Given the description of an element on the screen output the (x, y) to click on. 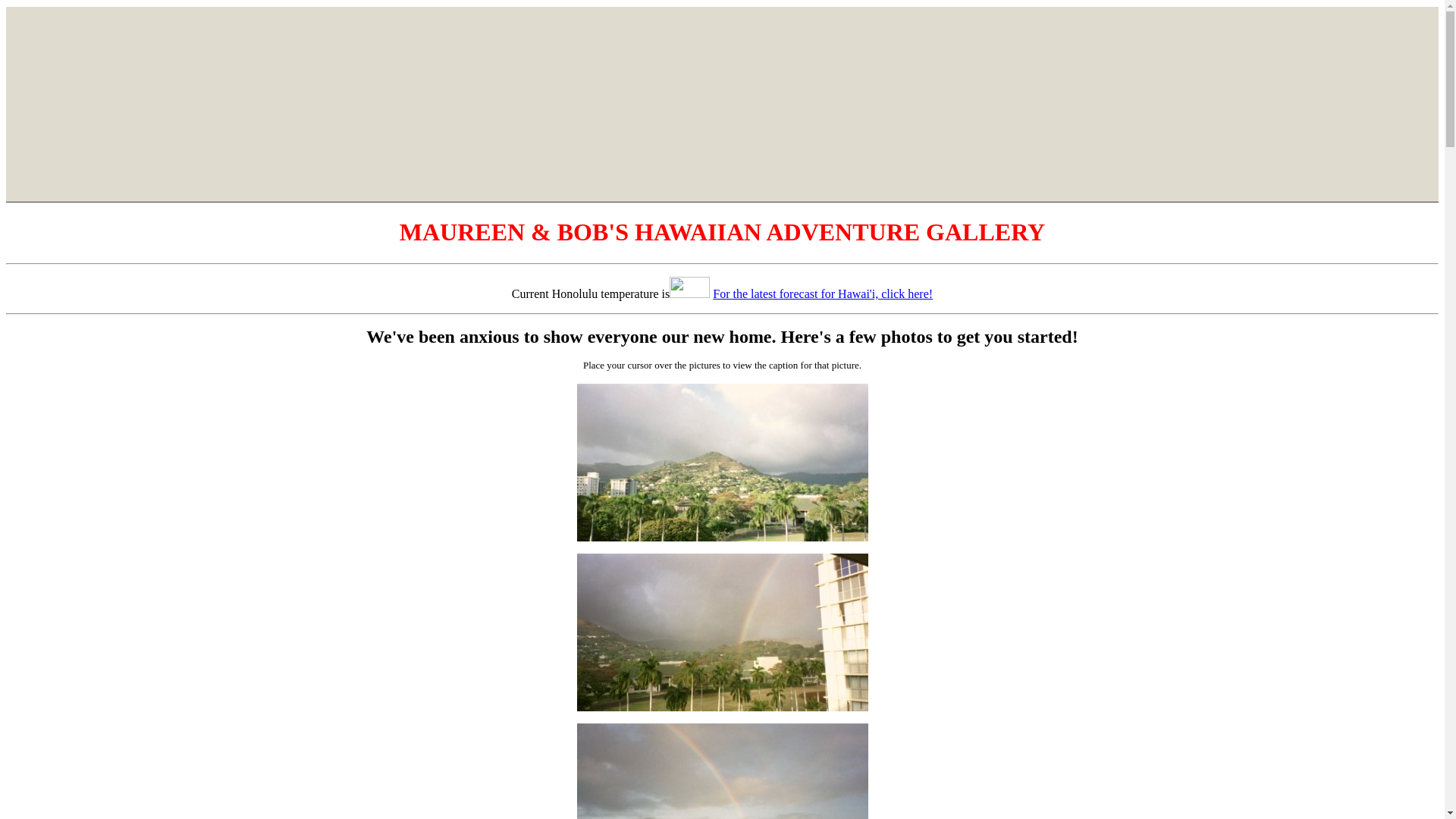
For the latest forecast for Hawai'i, click here! (823, 293)
